Given the description of an element on the screen output the (x, y) to click on. 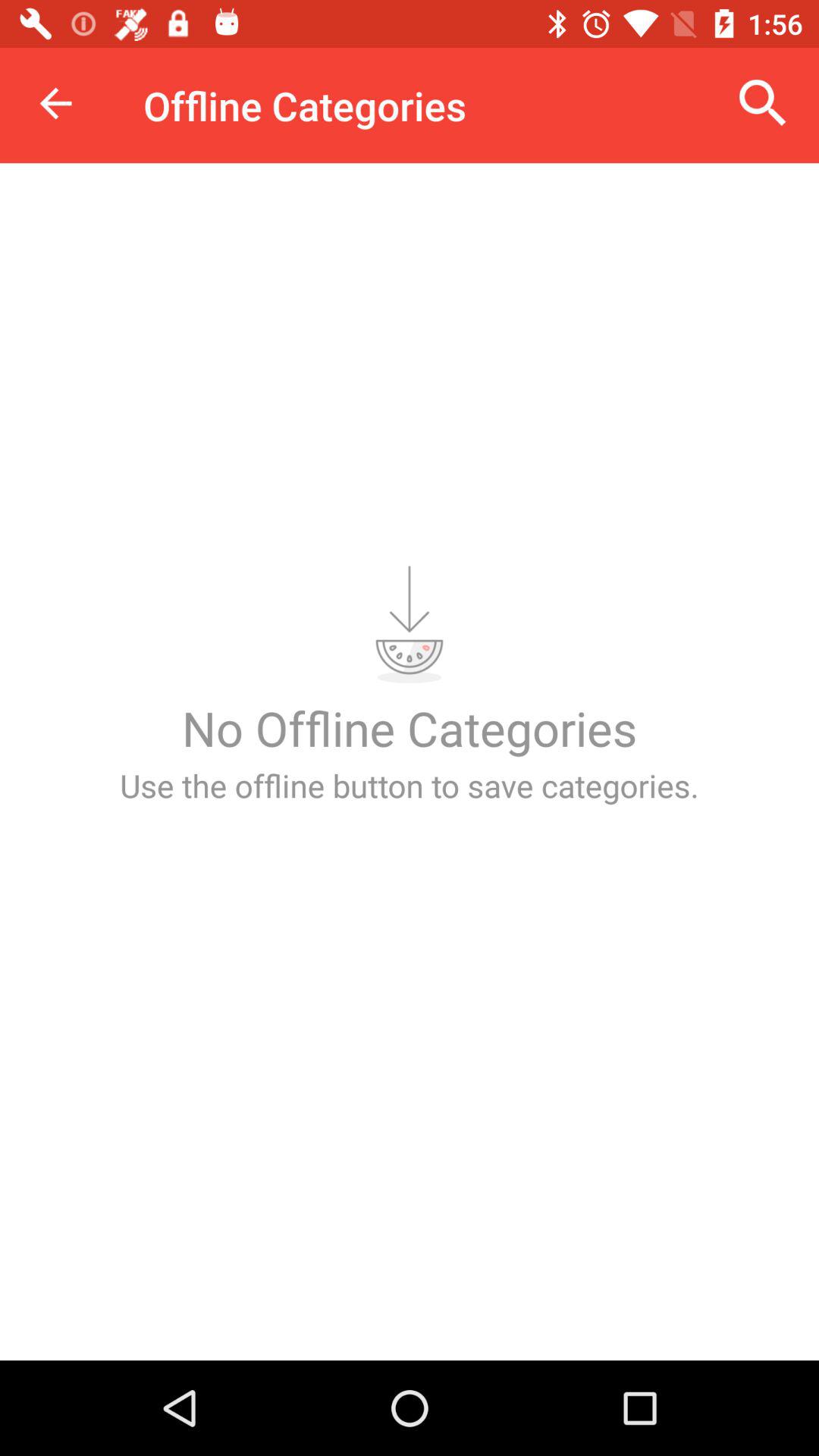
press the icon at the top right corner (763, 103)
